Given the description of an element on the screen output the (x, y) to click on. 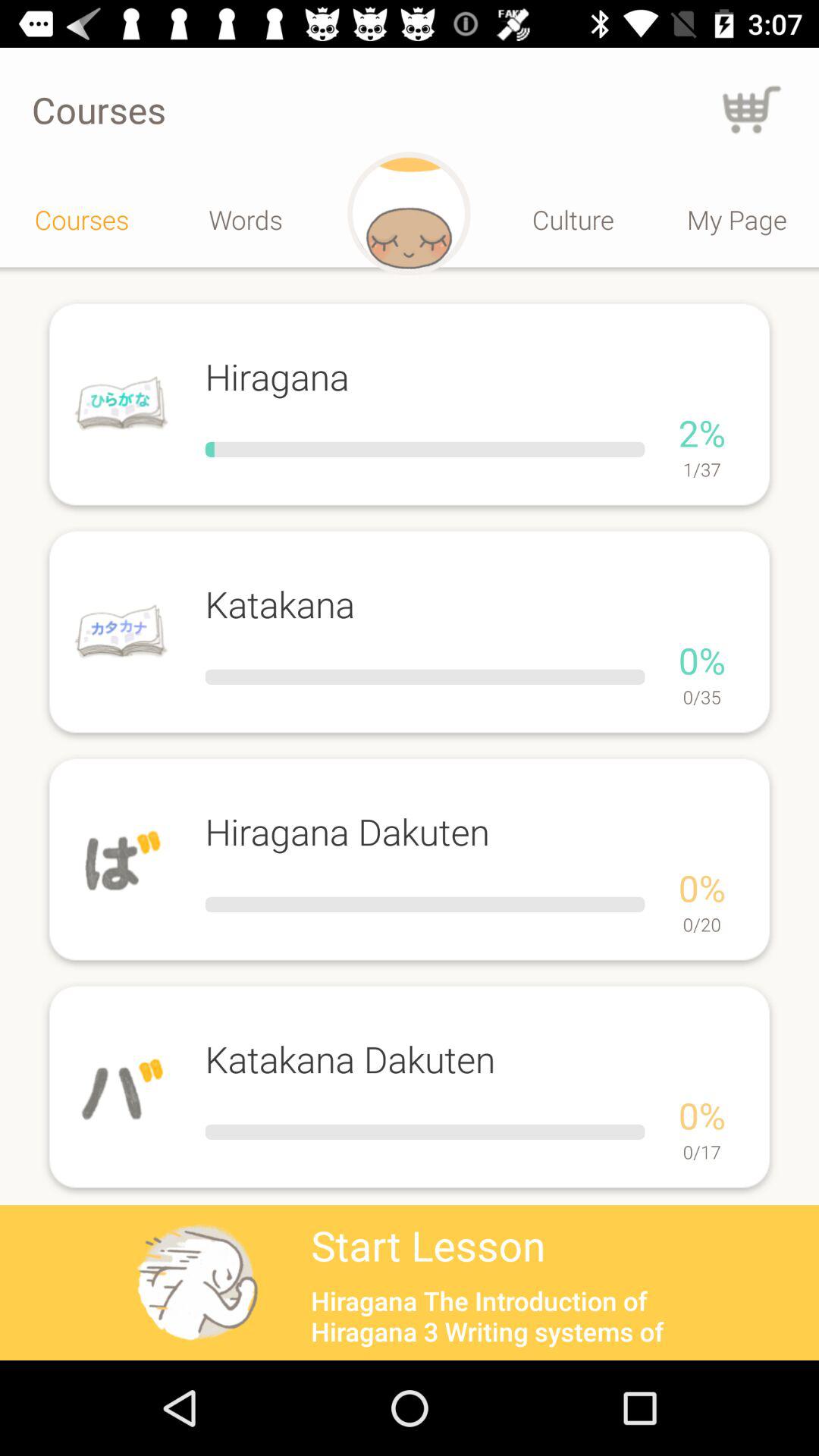
open cart (751, 109)
